Given the description of an element on the screen output the (x, y) to click on. 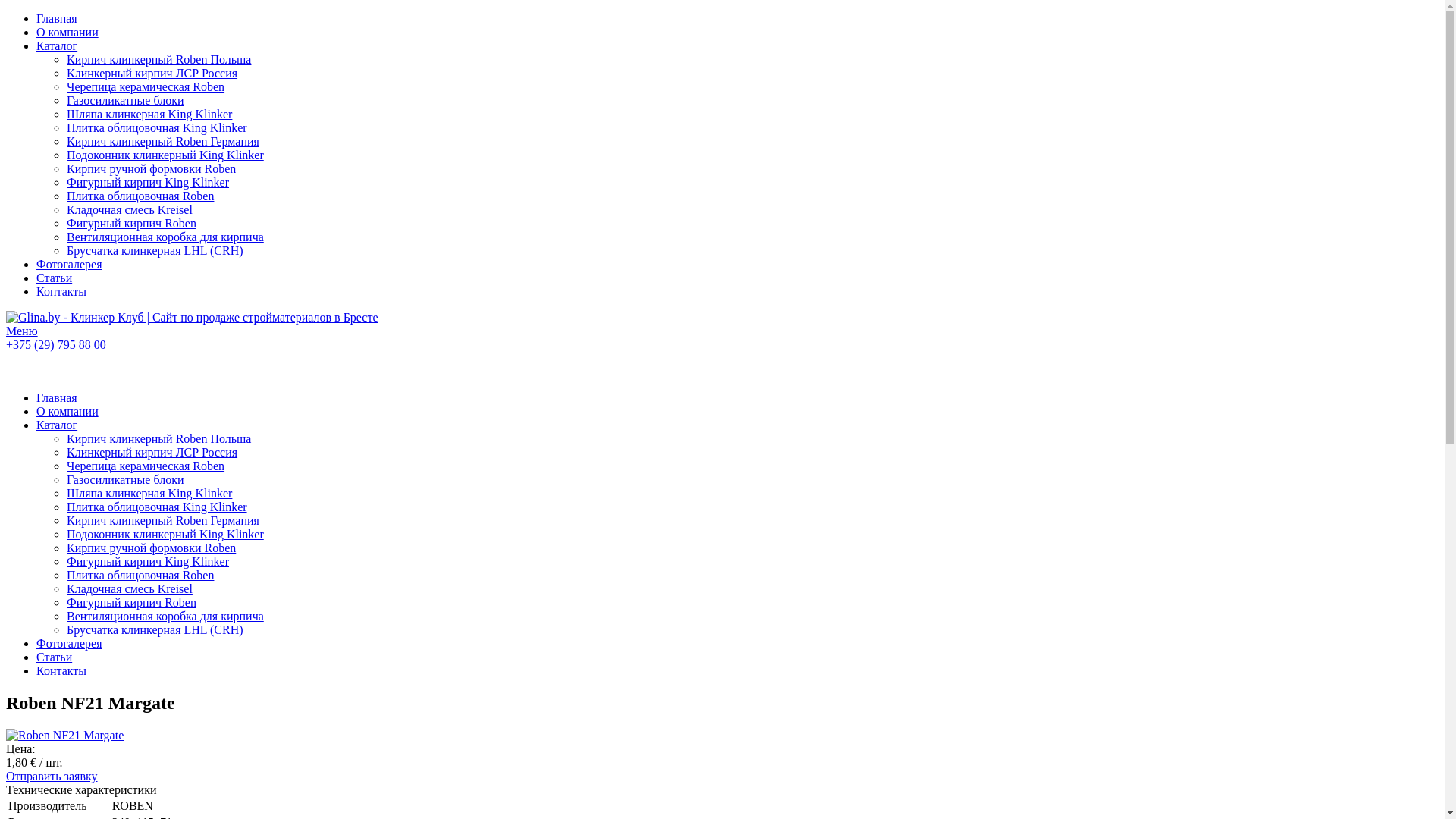
+375 (29) 795 88 00 Element type: text (56, 344)
